Given the description of an element on the screen output the (x, y) to click on. 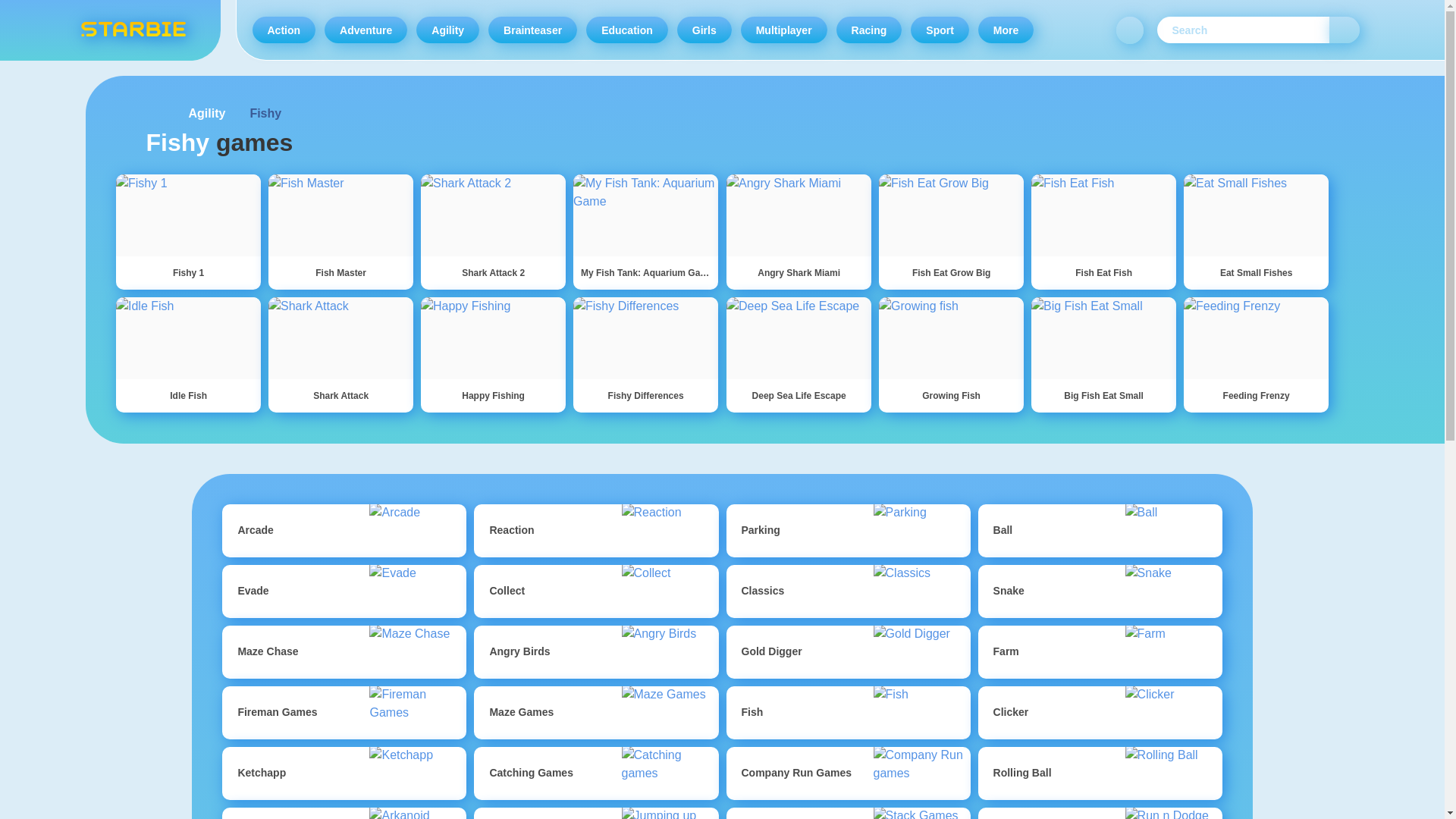
Adventure (365, 29)
Starbie.co.uk (132, 30)
Action (283, 29)
Action (283, 29)
